Given the description of an element on the screen output the (x, y) to click on. 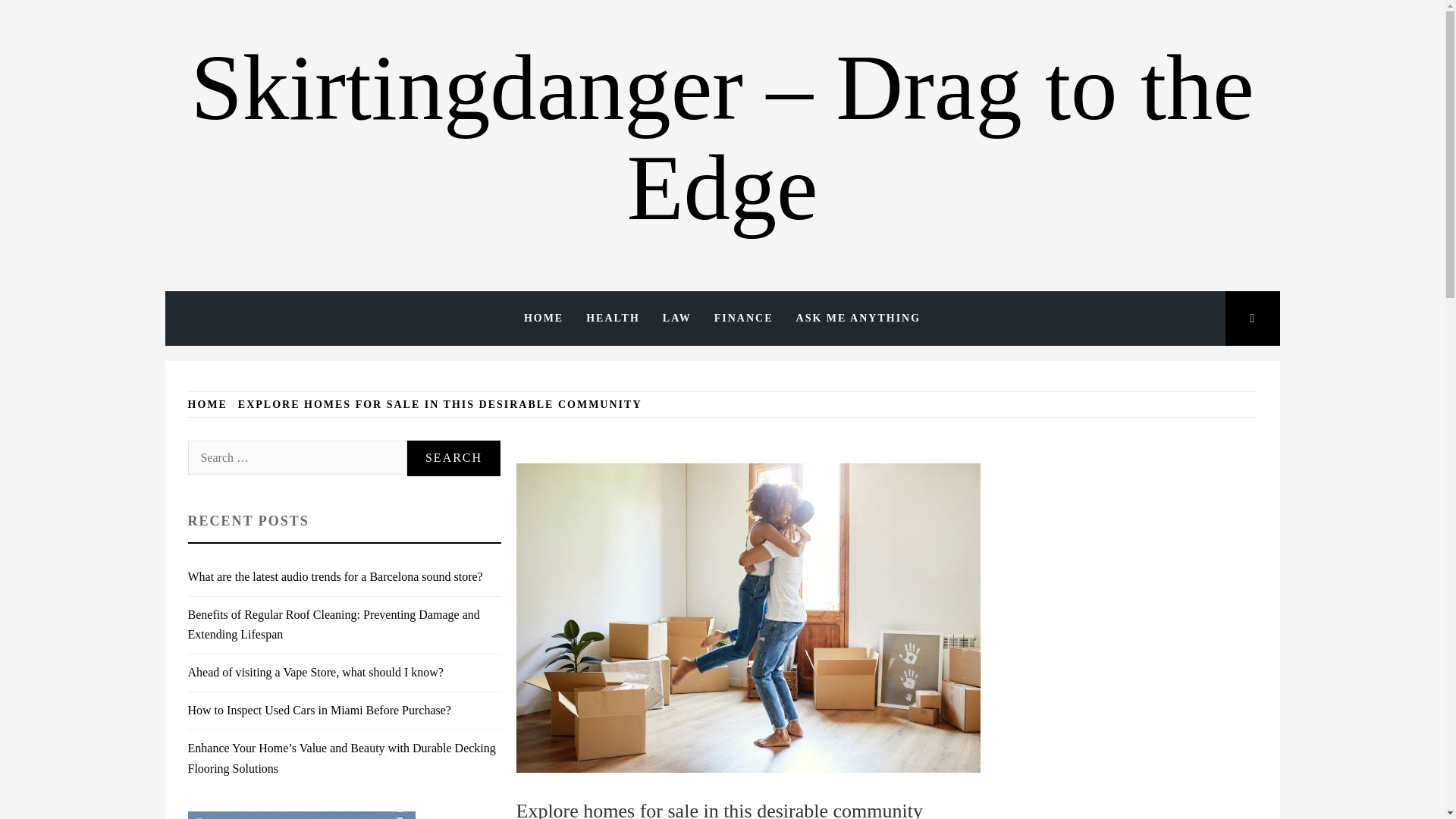
EXPLORE HOMES FOR SALE IN THIS DESIRABLE COMMUNITY (439, 404)
ASK ME ANYTHING (858, 318)
HEALTH (612, 318)
LAW (676, 318)
How to Inspect Used Cars in Miami Before Purchase? (319, 709)
Search (646, 37)
Search (453, 457)
HOME (543, 318)
HOME (209, 404)
Search (453, 457)
Ahead of visiting a Vape Store, what should I know? (315, 671)
Search (453, 457)
FINANCE (743, 318)
